Given the description of an element on the screen output the (x, y) to click on. 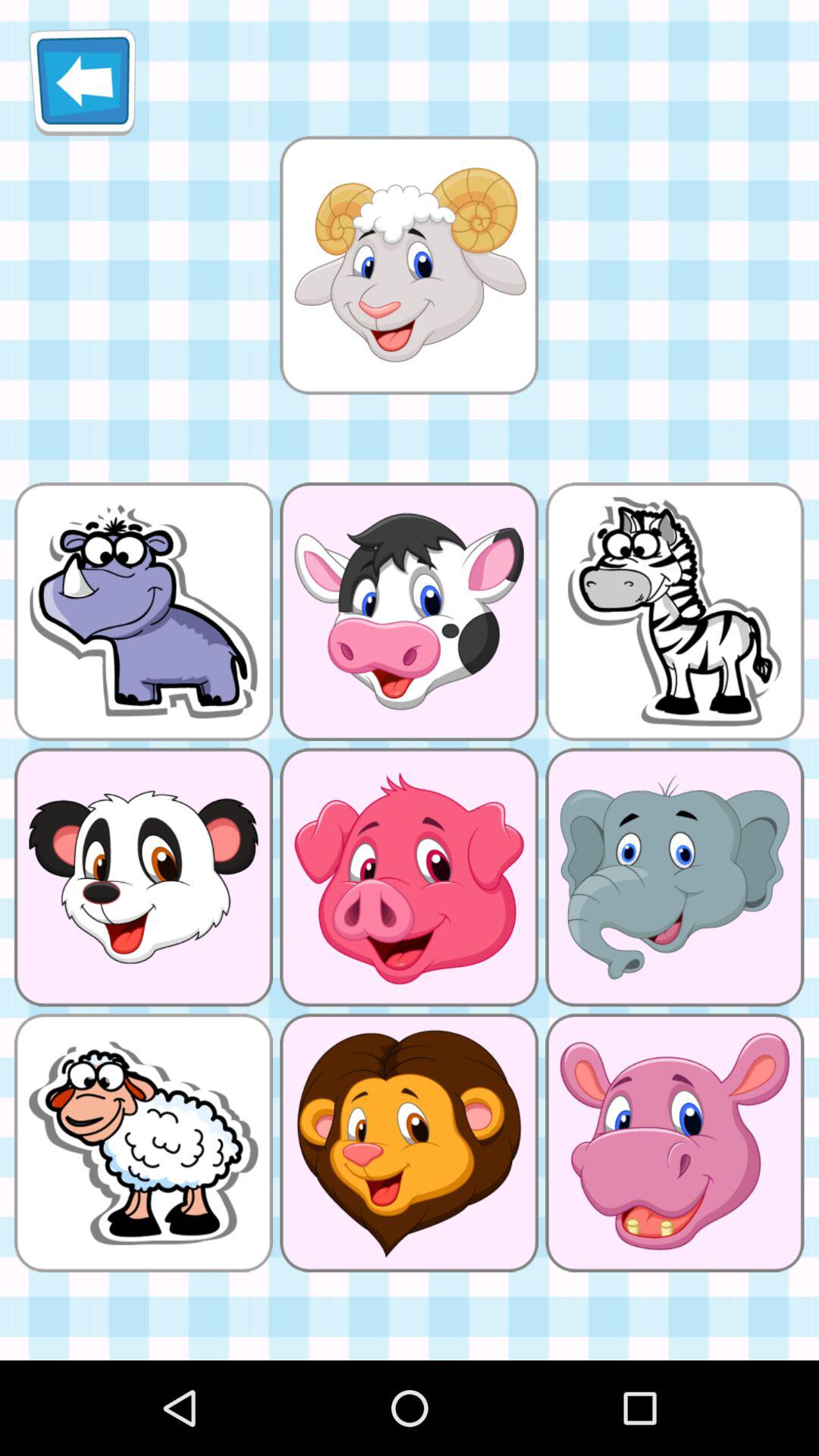
select avatar (409, 264)
